Given the description of an element on the screen output the (x, y) to click on. 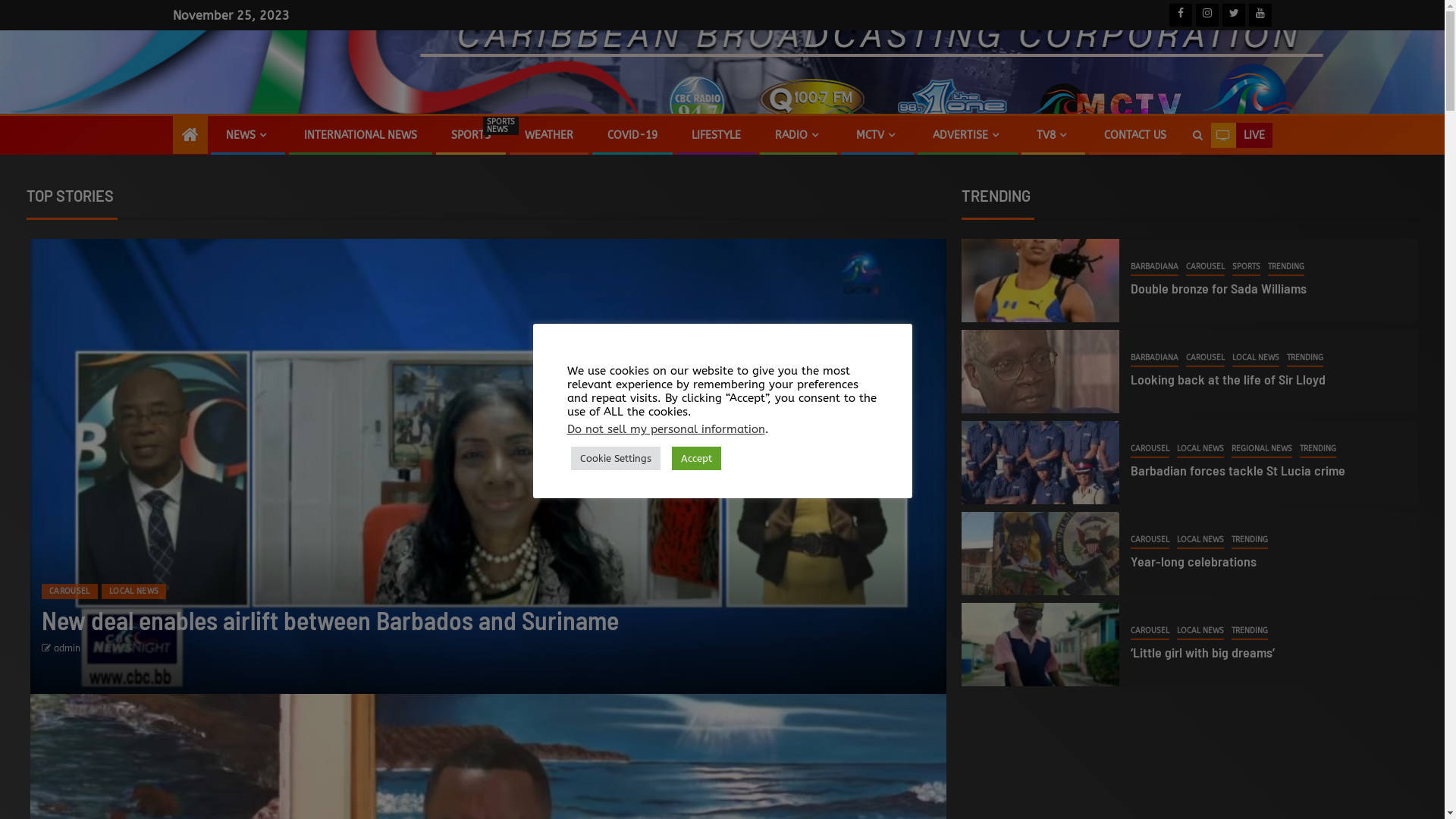
LOCAL NEWS Element type: text (1255, 358)
Looking back at the life of Sir Lloyd Element type: text (1227, 378)
New deal enables airlift between Barbados and Suriname Element type: text (329, 619)
Search Element type: hover (1196, 135)
TRENDING Element type: text (1249, 540)
CAROUSEL Element type: text (1205, 358)
LIFESTYLE Element type: text (715, 134)
LOCAL NEWS Element type: text (1199, 449)
LOCAL NEWS Element type: text (1199, 540)
LOCAL NEWS Element type: text (1199, 631)
CAROUSEL Element type: text (1149, 449)
SPORTS Element type: text (1246, 267)
Do not sell my personal information Element type: text (666, 429)
SPORTS
SPORTS NEWS Element type: text (469, 134)
TRENDING Element type: text (1317, 449)
ADVERTISE Element type: text (967, 134)
Accept Element type: text (696, 458)
NEWS Element type: text (247, 134)
WEATHER Element type: text (548, 134)
TRENDING Element type: text (1285, 267)
BARBADIANA Element type: text (1154, 267)
Double bronze for Sada Williams Element type: text (1218, 287)
COVID-19 Element type: text (631, 134)
CONTACT US Element type: text (1135, 134)
LIVE Element type: text (1240, 135)
CAROUSEL Element type: text (1149, 631)
LOCAL NEWS Element type: text (133, 591)
BARBADIANA Element type: text (1154, 358)
CAROUSEL Element type: text (1205, 267)
admin Element type: text (66, 648)
INTERNATIONAL NEWS Element type: text (359, 134)
Year-long celebrations Element type: text (1193, 560)
TRENDING Element type: text (1304, 358)
TV8 Element type: text (1052, 134)
CAROUSEL Element type: text (69, 591)
REGIONAL NEWS Element type: text (1261, 449)
CAROUSEL Element type: text (1149, 540)
TRENDING Element type: text (1249, 631)
Cookie Settings Element type: text (614, 458)
MCTV Element type: text (876, 134)
RADIO Element type: text (798, 134)
Search Element type: text (1167, 180)
Barbadian forces tackle St Lucia crime Element type: text (1237, 469)
